Given the description of an element on the screen output the (x, y) to click on. 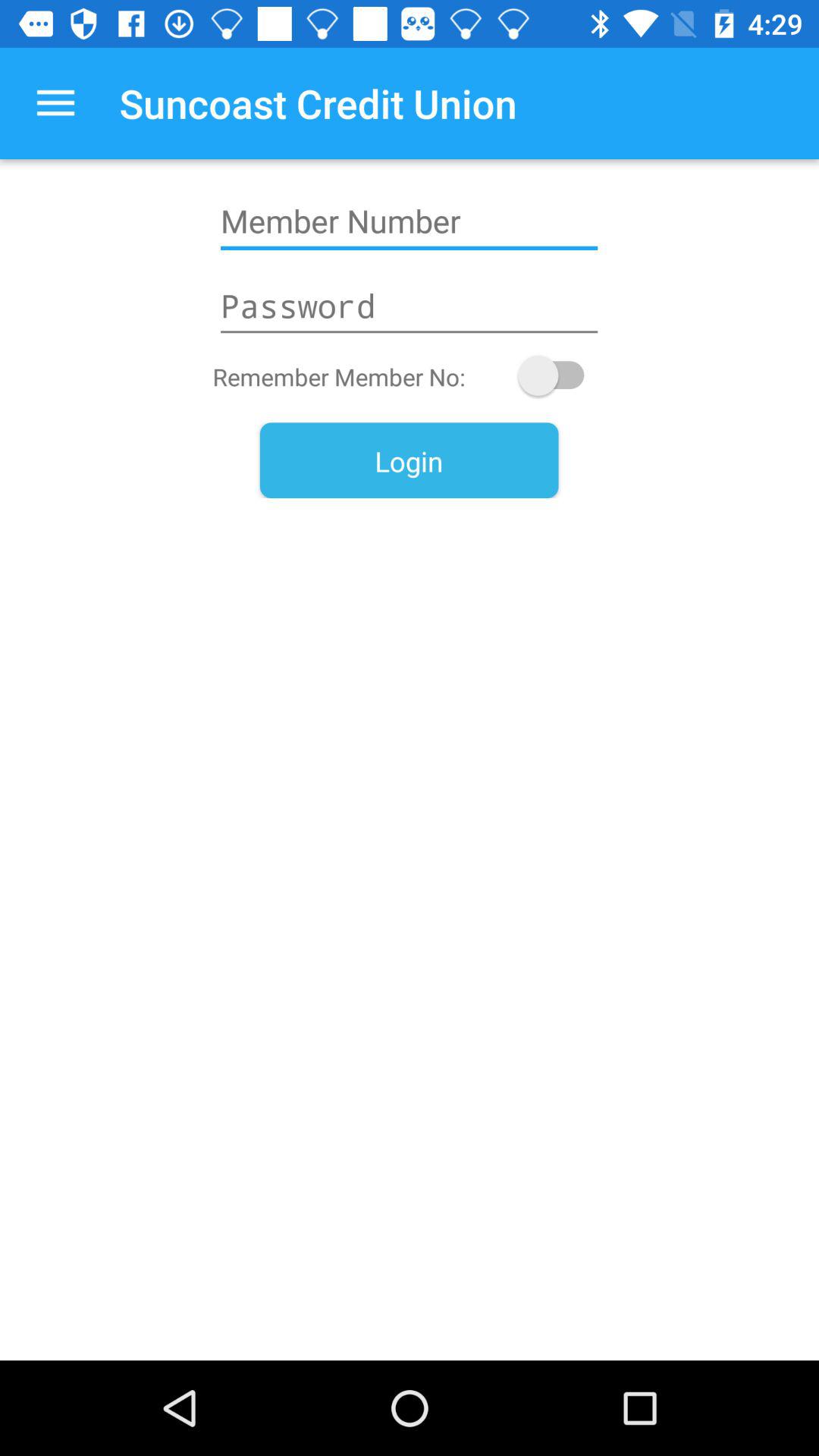
choose the icon at the top left corner (55, 103)
